Given the description of an element on the screen output the (x, y) to click on. 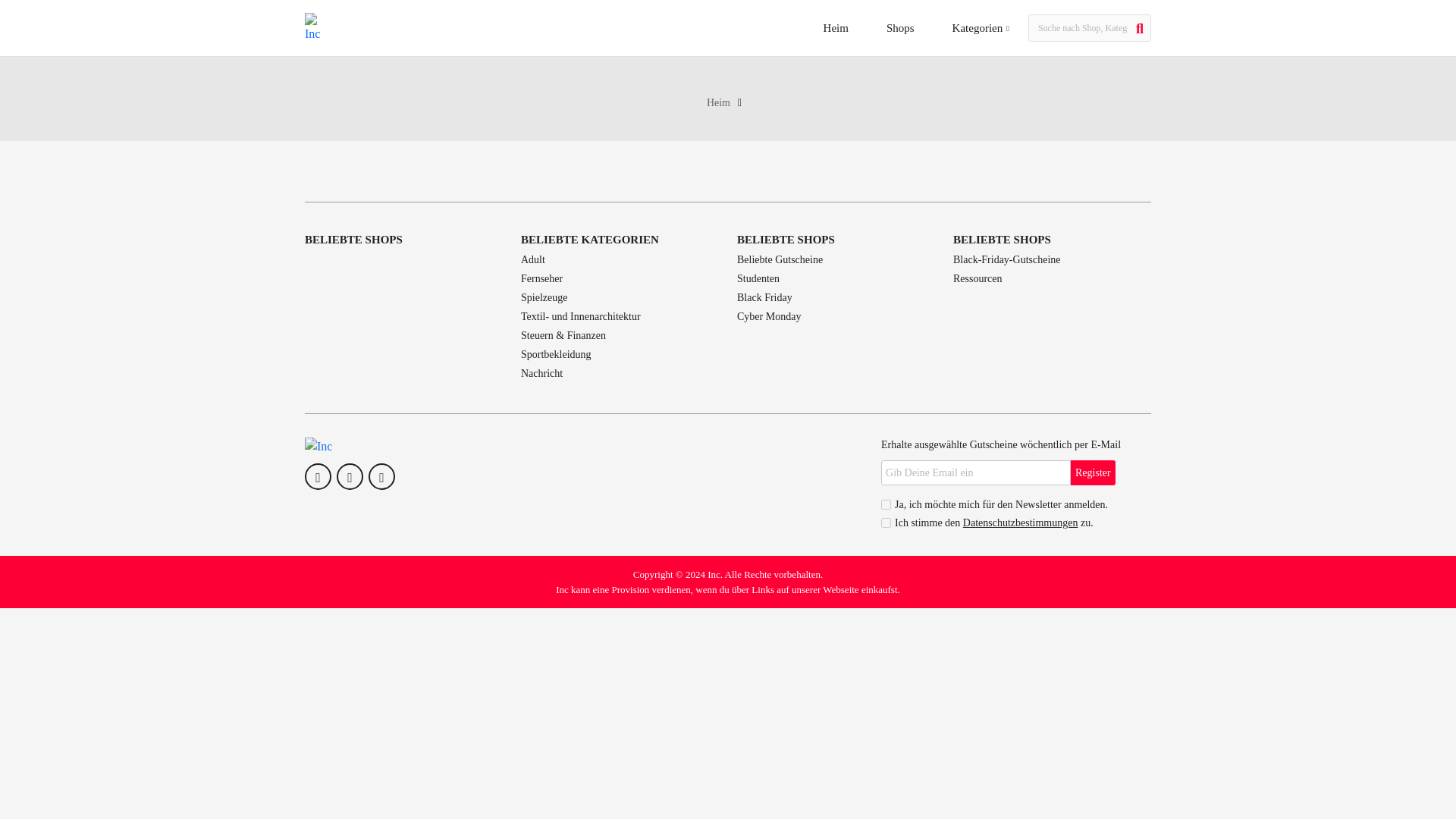
Kategorien (977, 27)
on (885, 522)
Fernseher (541, 278)
Shops (900, 27)
Register (1092, 472)
Heim (718, 102)
Beliebte Gutscheine (779, 259)
Cyber Monday (768, 316)
Black-Friday-Gutscheine (1007, 259)
Textil- und Innenarchitektur (580, 316)
Spielzeuge (544, 297)
Black Friday (764, 297)
Ressourcen (978, 278)
Nachricht (541, 373)
Studenten (757, 278)
